Given the description of an element on the screen output the (x, y) to click on. 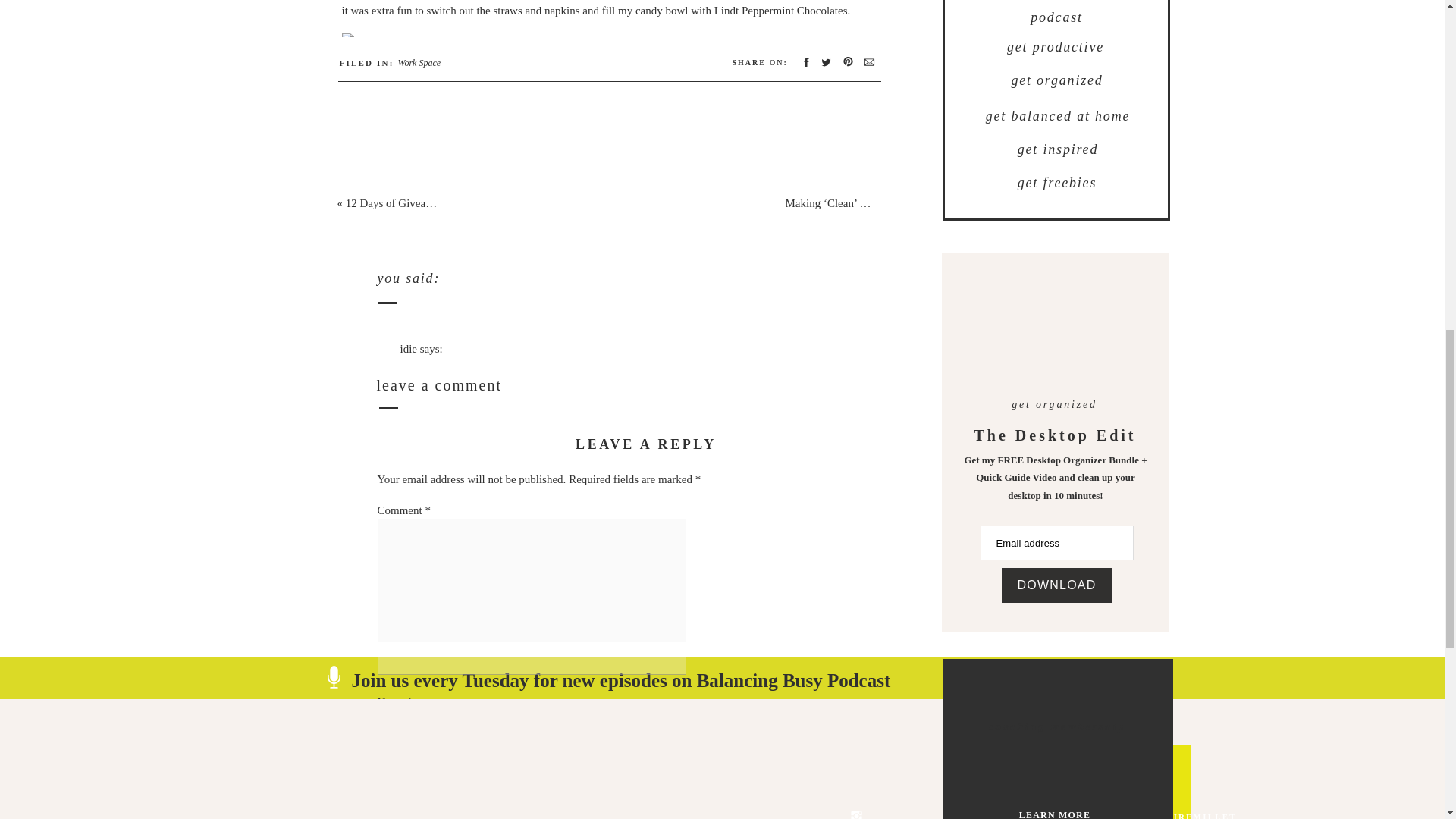
LEARN MORE (1053, 814)
DOWNLOAD (1056, 585)
get inspired (1058, 149)
get freebies (1056, 183)
get balanced at home (1058, 116)
get productive (1055, 47)
podcast (1056, 17)
get organized (1056, 80)
